Given the description of an element on the screen output the (x, y) to click on. 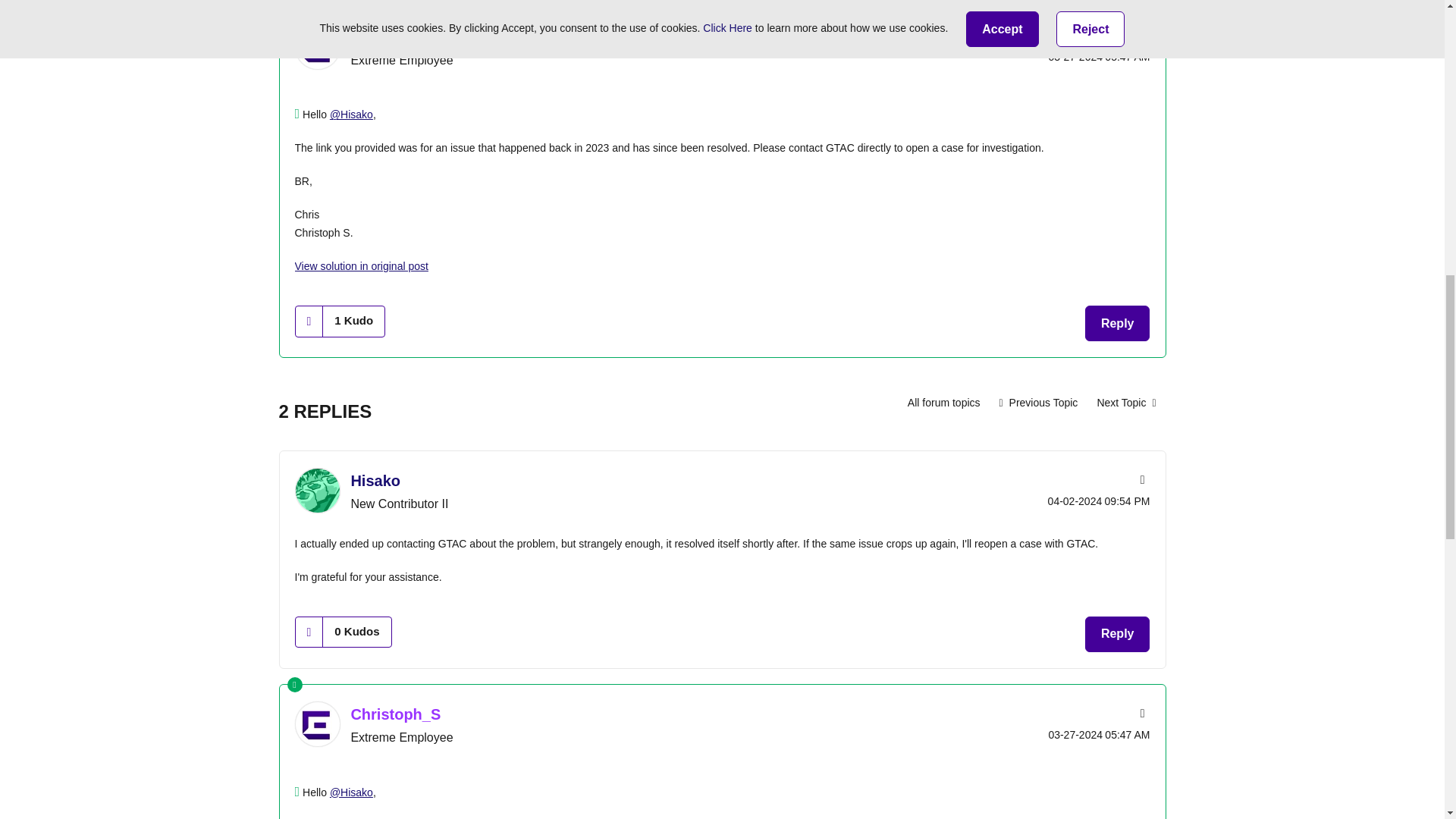
ExtremeCloud IQ (944, 402)
Click here to give kudos to this post. (309, 320)
Click here to see who gave kudos to this post. (353, 320)
